Given the description of an element on the screen output the (x, y) to click on. 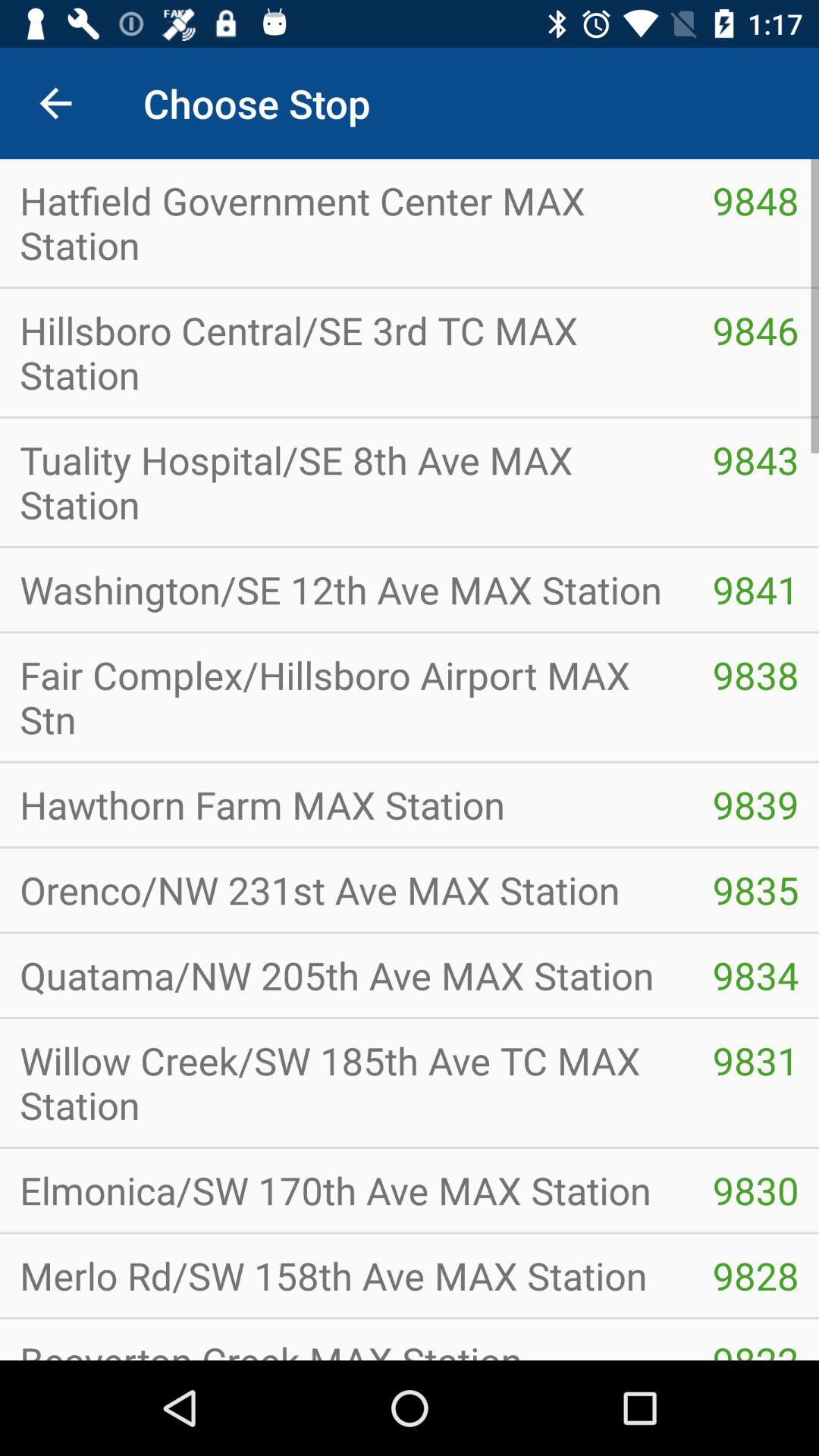
tap icon below elmonica sw 170th icon (346, 1275)
